Given the description of an element on the screen output the (x, y) to click on. 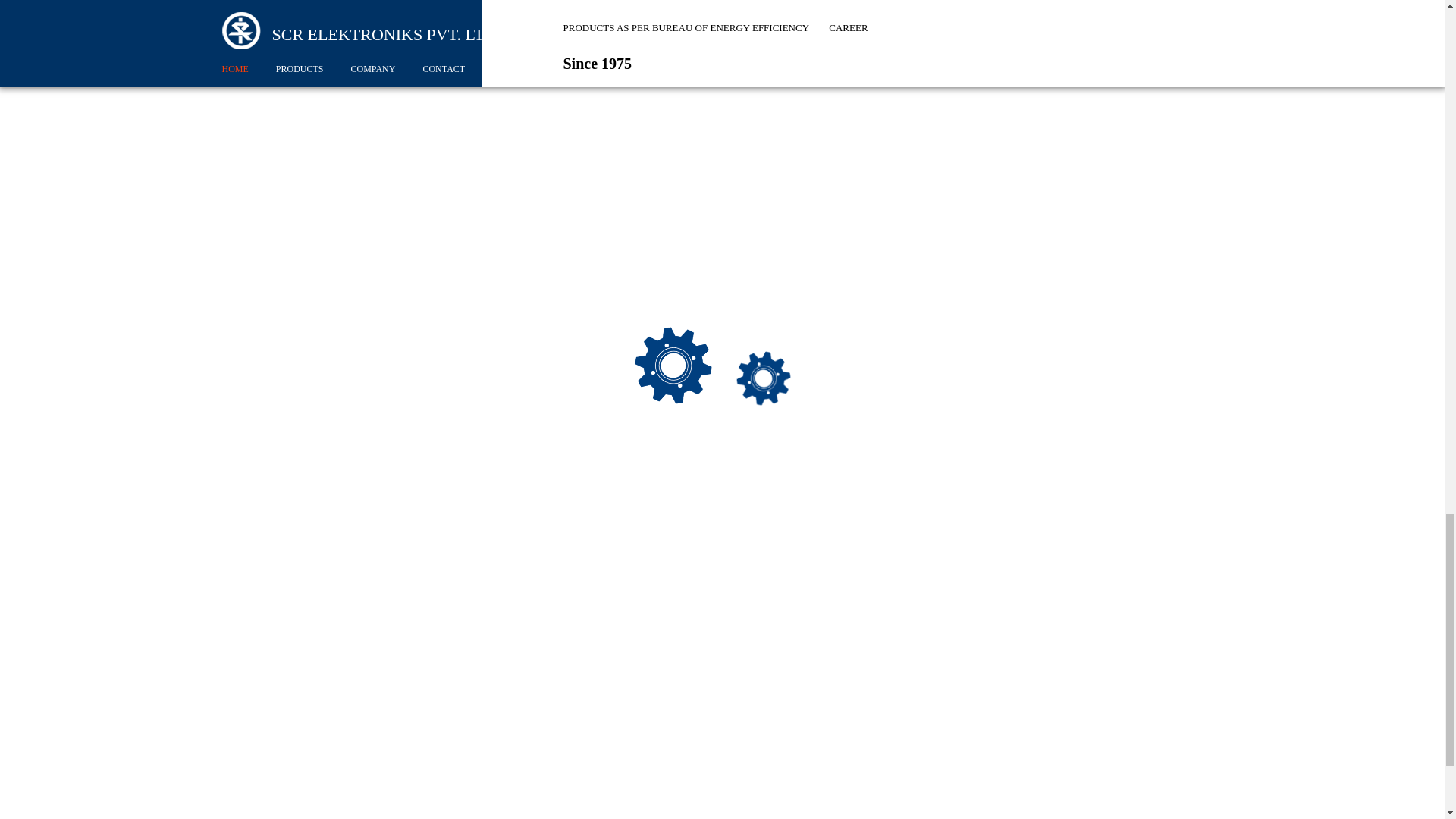
Switch Global Expo 2016 event gallery (1106, 255)
ELECRAMA 2016 event gallery (1106, 325)
ELECRAMA 2018 event gallery (1106, 415)
Philips company logo (307, 351)
Schneider Electric company logo (307, 128)
Customer Support (850, 2)
ELECRAMA 2004 event gallery (1106, 94)
ELECRAMA 2004 event gallery (1106, 12)
ELECRAMA 2012 event gallery (1106, 184)
